Given the description of an element on the screen output the (x, y) to click on. 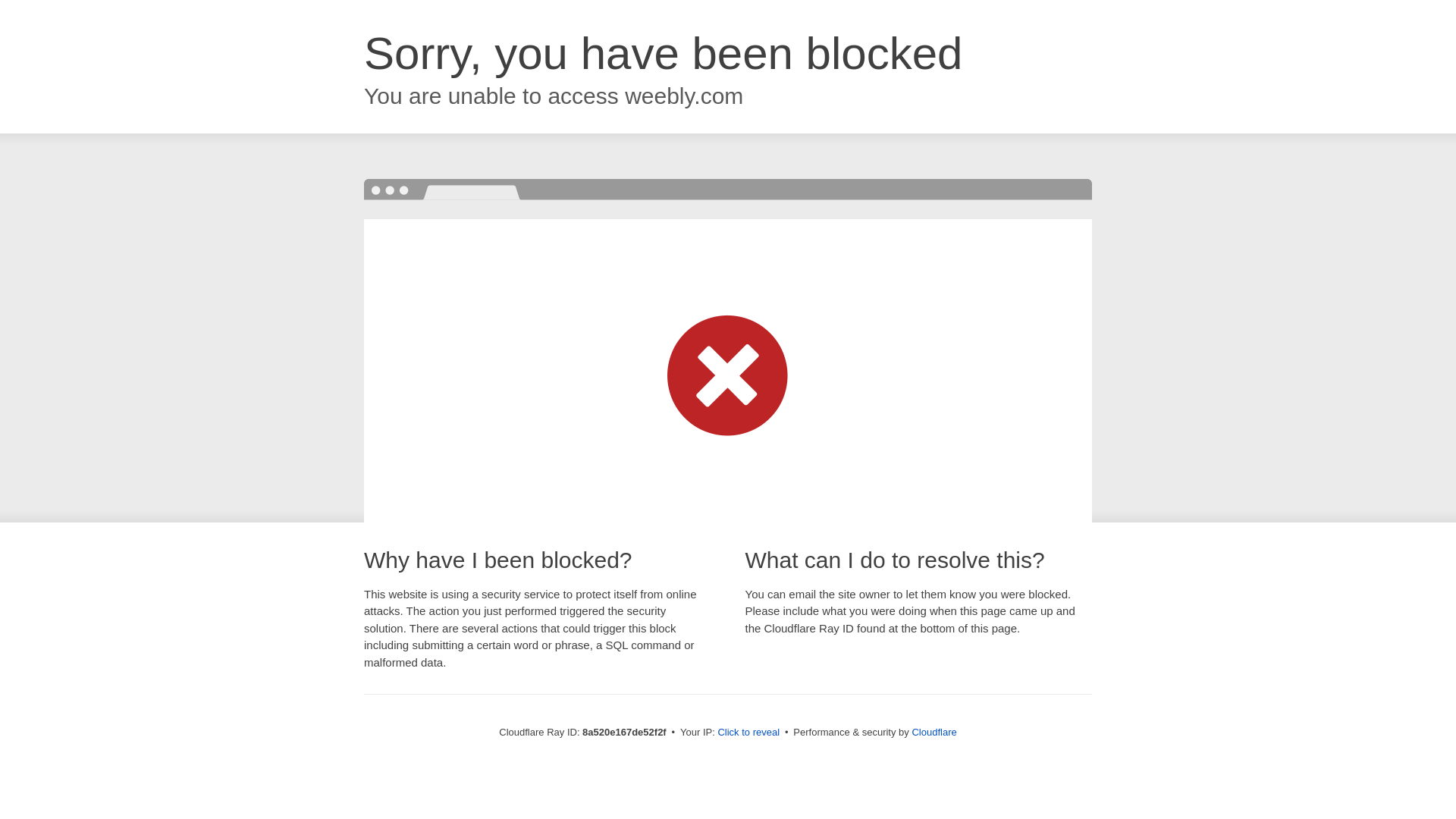
Click to reveal (747, 732)
Cloudflare (933, 731)
